Given the description of an element on the screen output the (x, y) to click on. 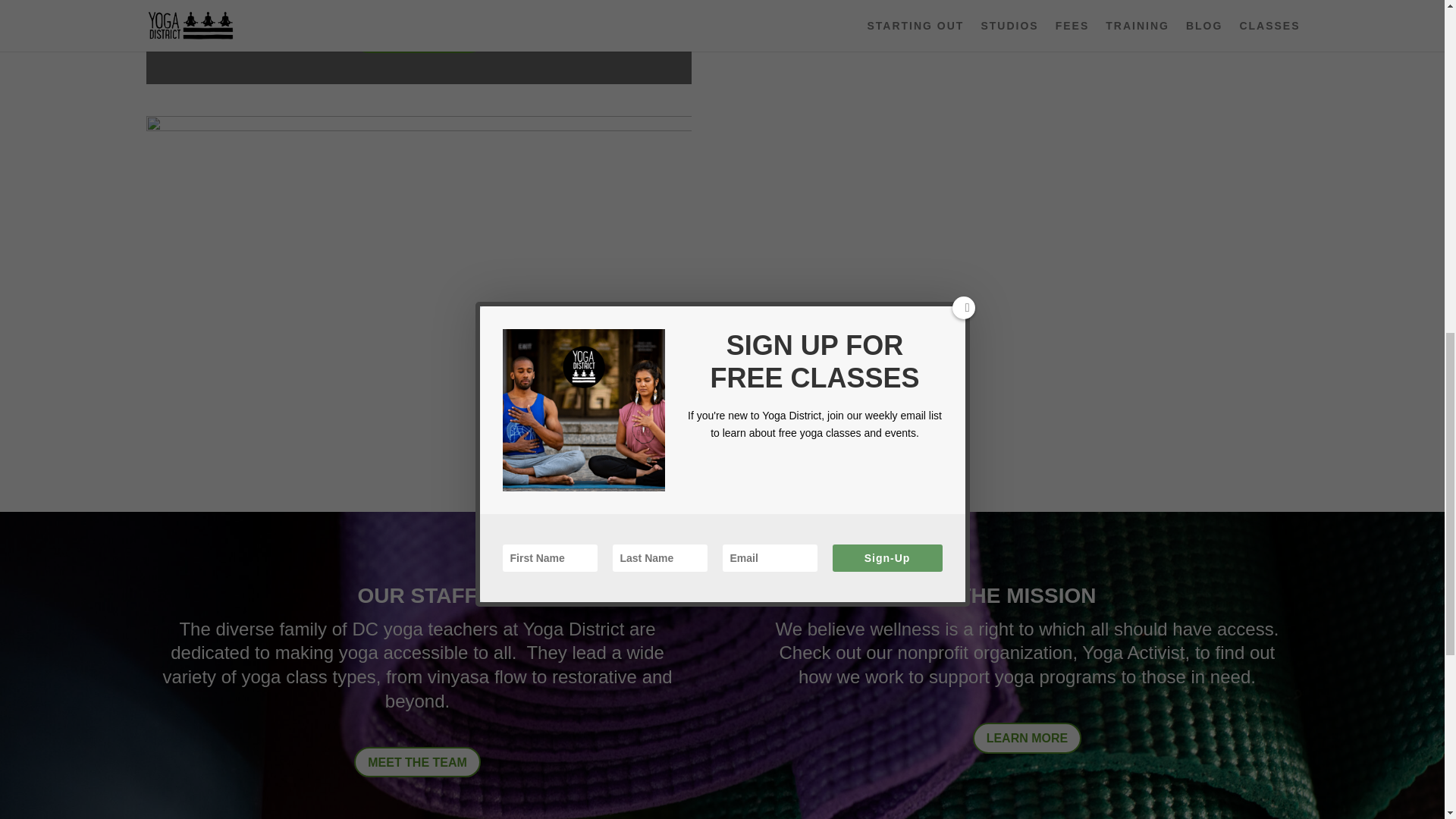
LEARN MORE (1026, 737)
MEET THE TEAM (416, 762)
GET THE DEAL (418, 34)
